Given the description of an element on the screen output the (x, y) to click on. 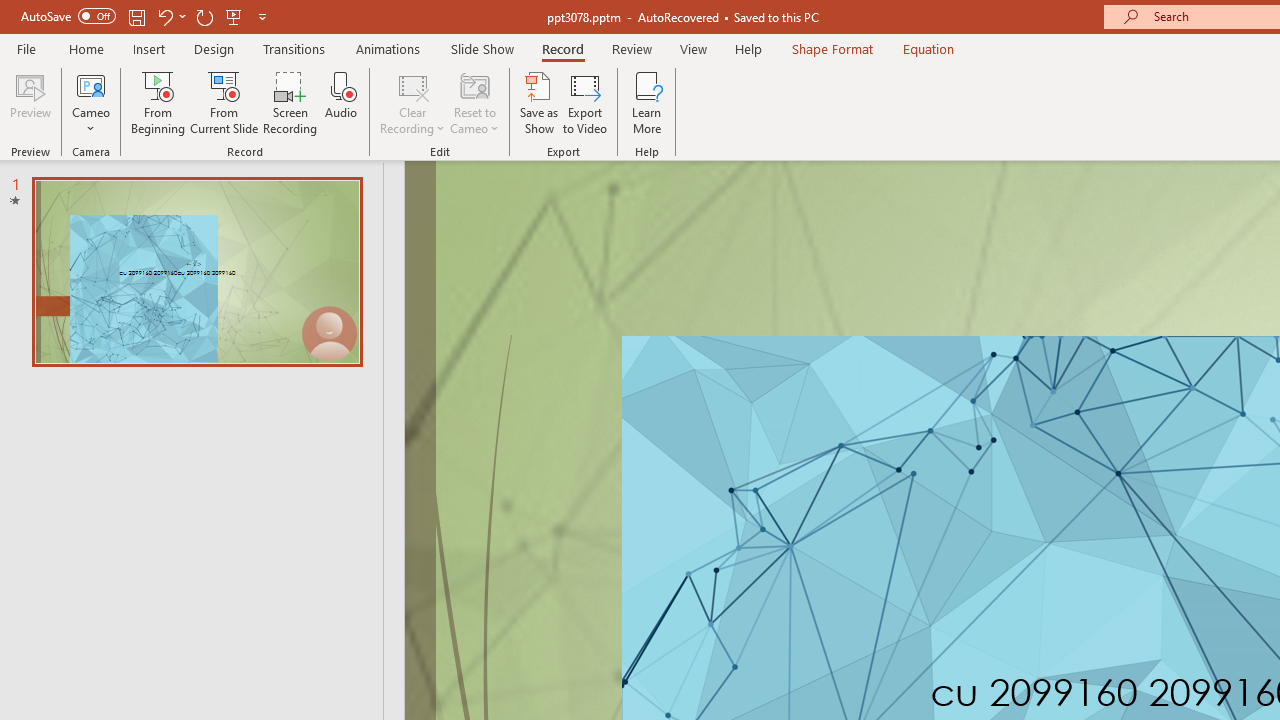
Equation (928, 48)
